Given the description of an element on the screen output the (x, y) to click on. 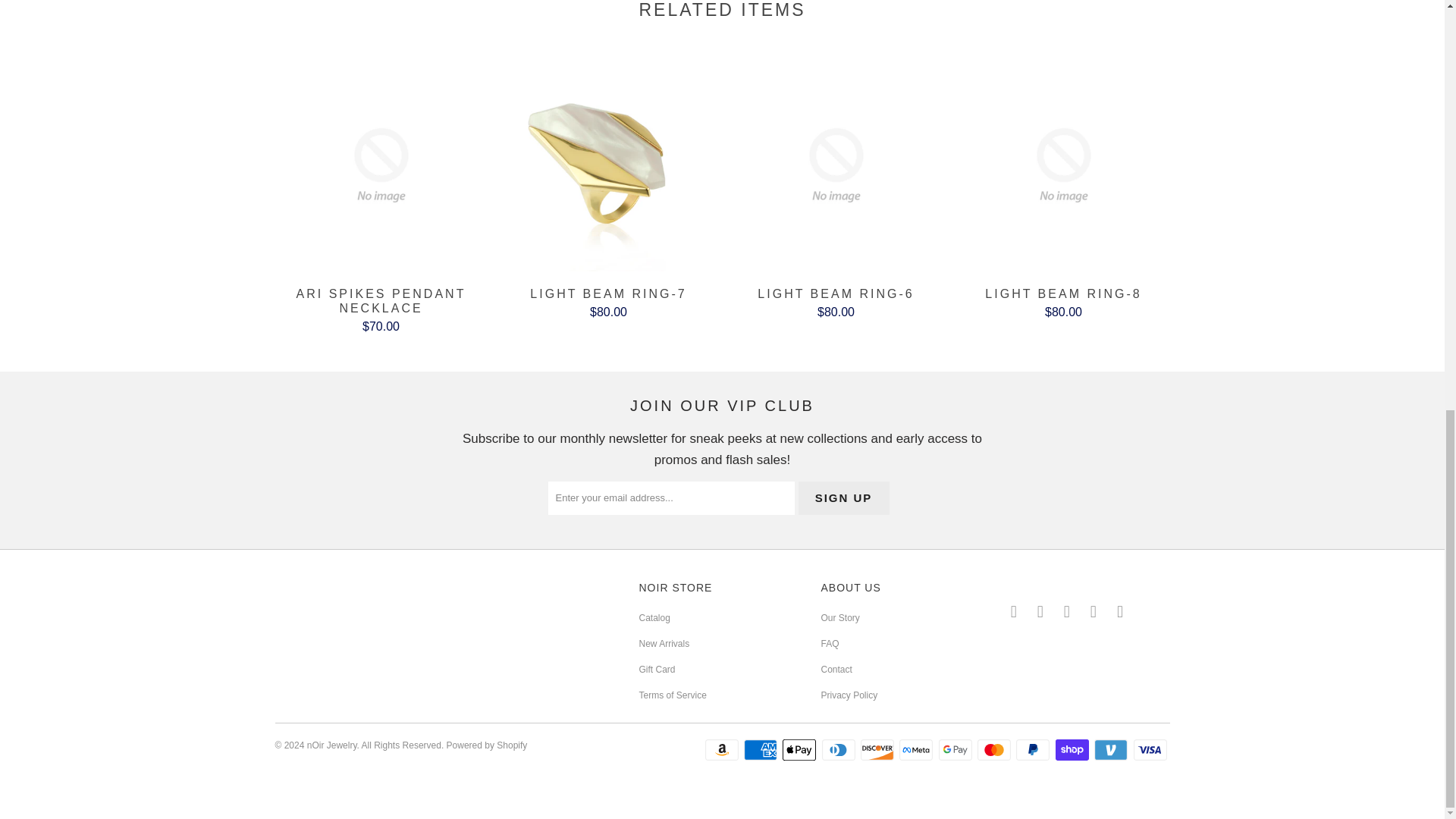
Shop Pay (1073, 749)
Venmo (1112, 749)
Mastercard (994, 749)
Sign Up (842, 498)
Visa (1150, 749)
nOir Jewelry on Twitter (1014, 611)
Google Pay (957, 749)
American Express (762, 749)
Apple Pay (800, 749)
PayPal (1034, 749)
